Given the description of an element on the screen output the (x, y) to click on. 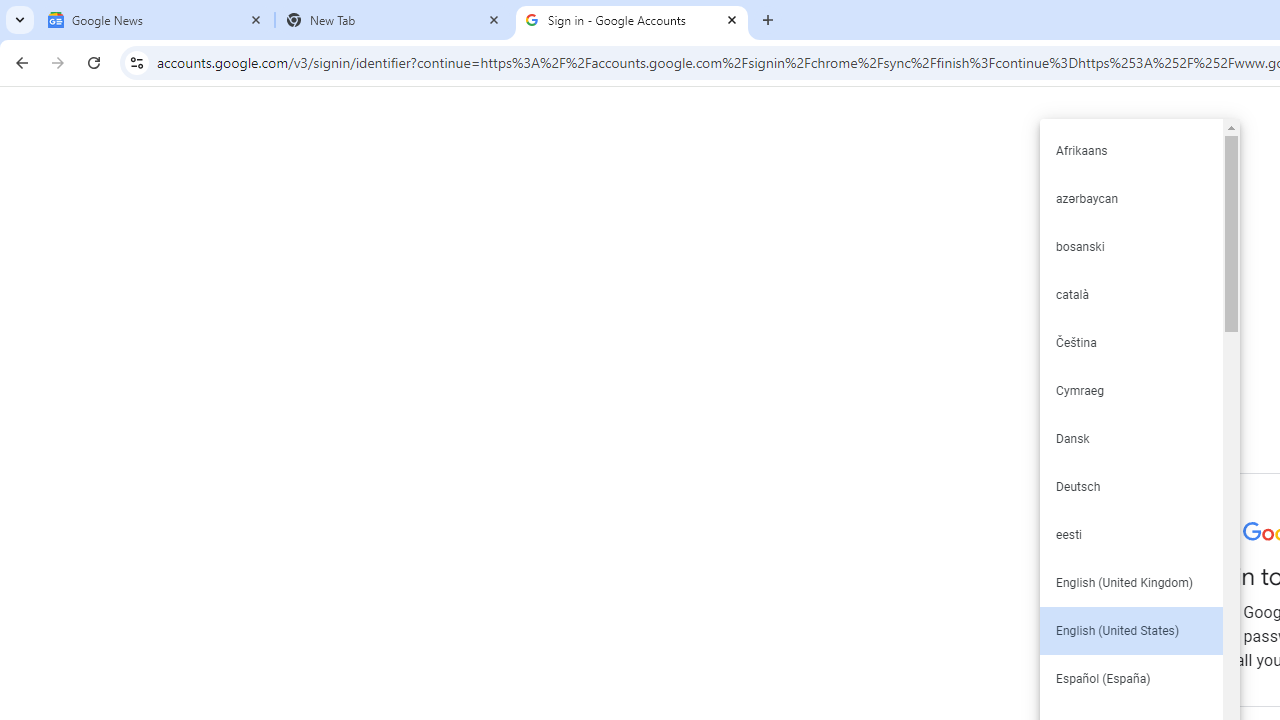
English (United Kingdom) (1130, 582)
New Tab (394, 20)
Afrikaans (1130, 150)
Google News (156, 20)
eesti (1130, 534)
